Given the description of an element on the screen output the (x, y) to click on. 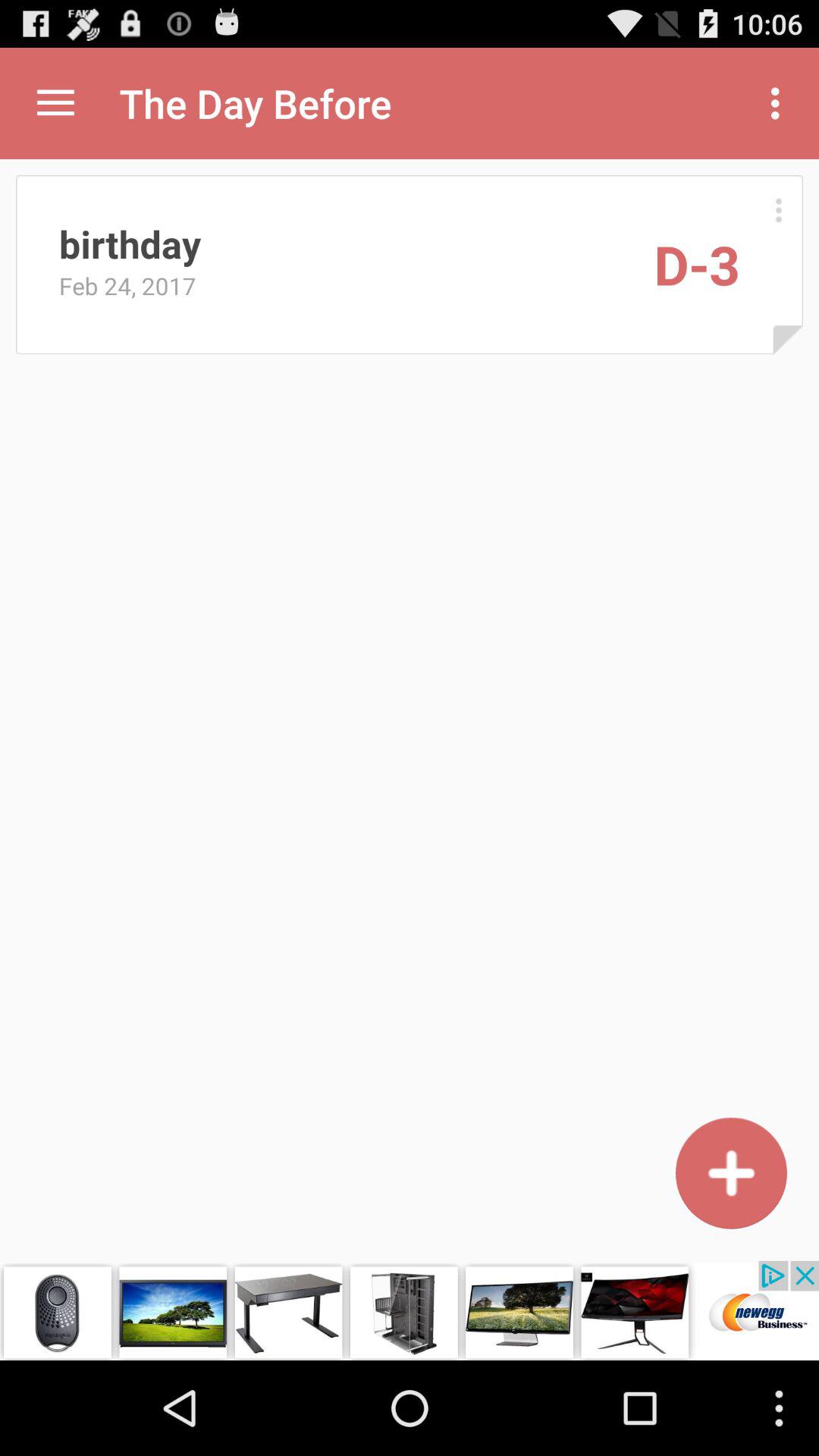
view advertisement (409, 1310)
